Given the description of an element on the screen output the (x, y) to click on. 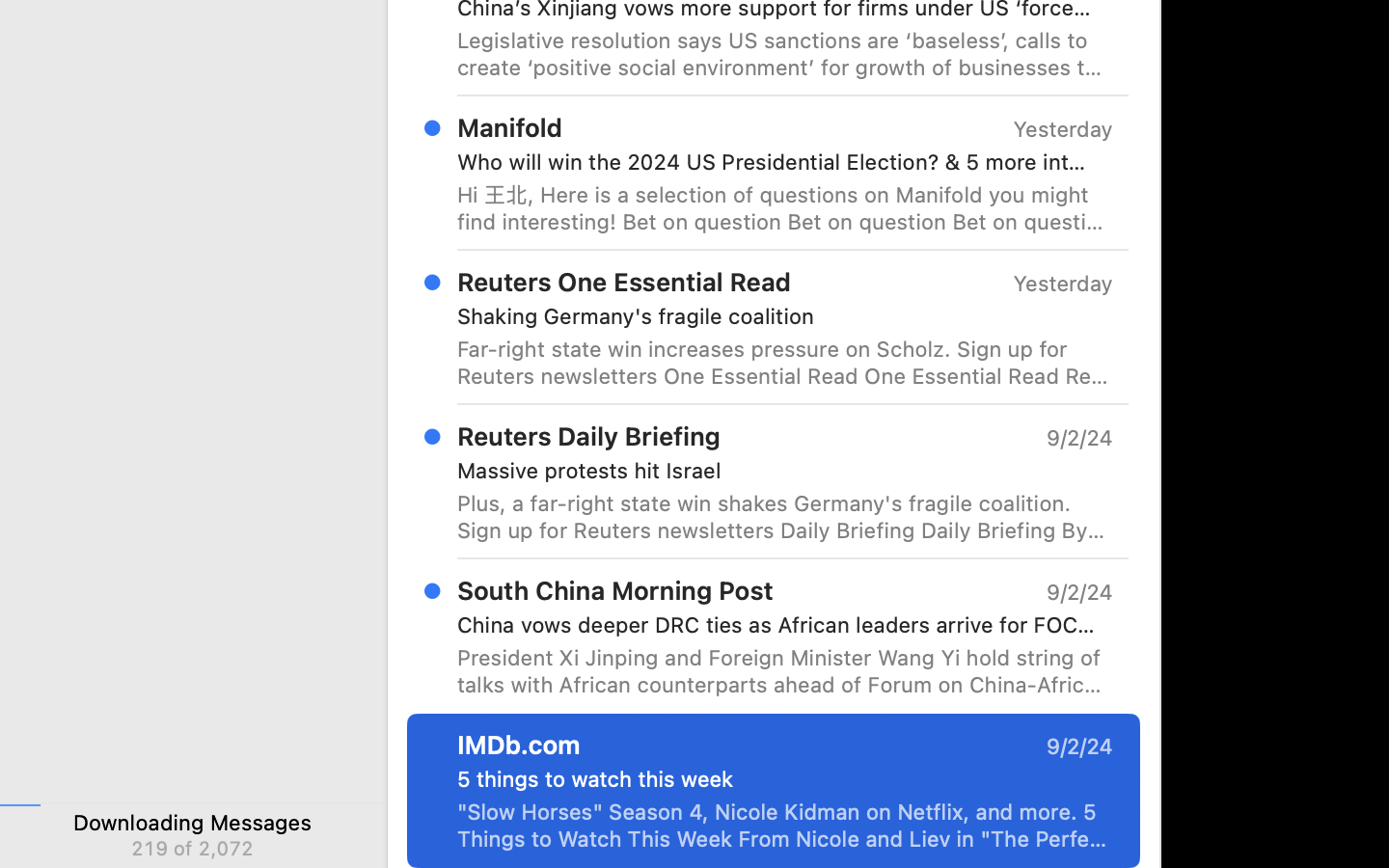
Inbox Element type: AXStaticText (722, 732)
